Given the description of an element on the screen output the (x, y) to click on. 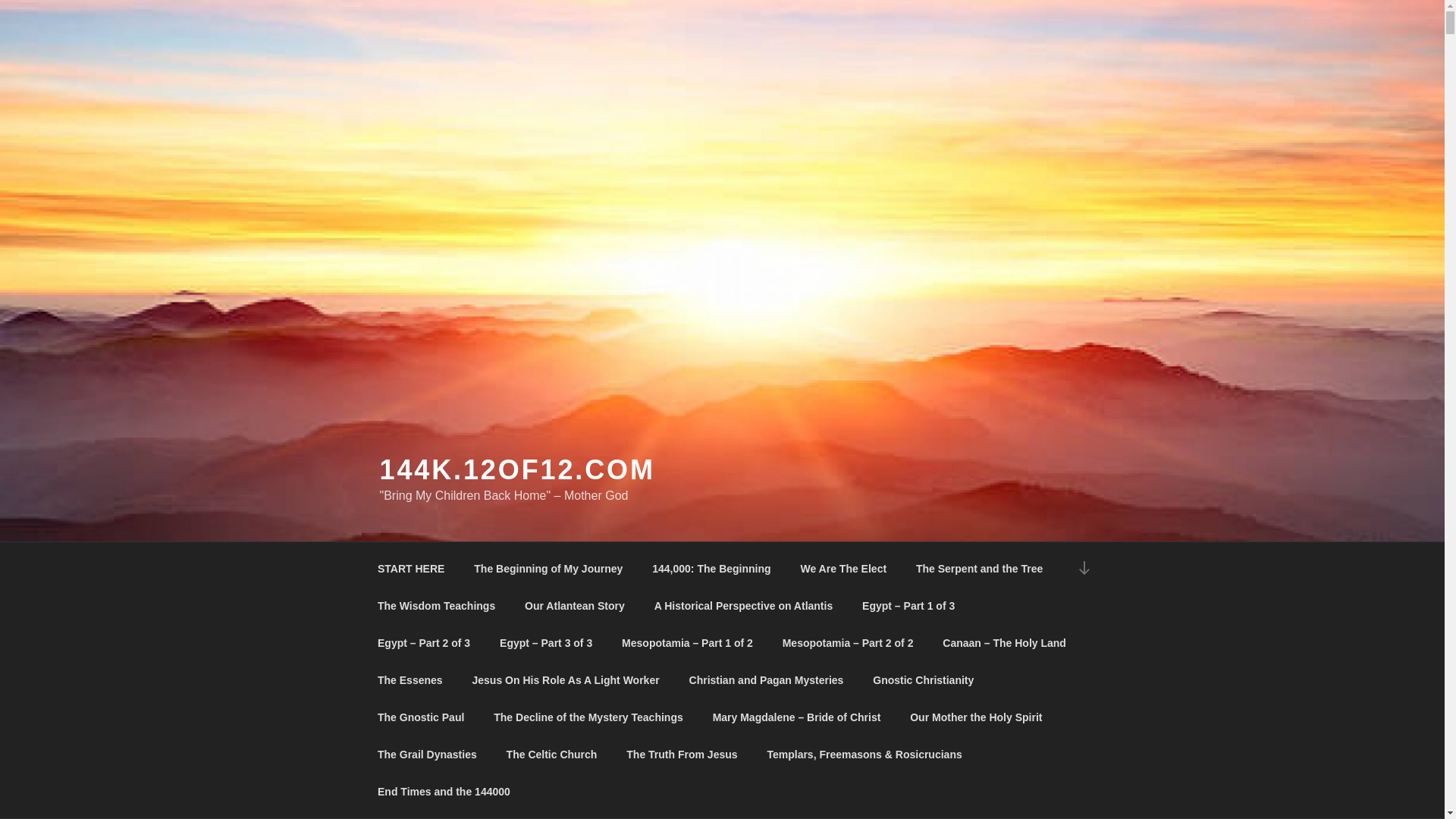
The Essenes Element type: text (409, 679)
The Grail Dynasties Element type: text (426, 753)
The Beginning of My Journey Element type: text (548, 568)
Christian and Pagan Mysteries Element type: text (765, 679)
End Times and the 144000 Element type: text (443, 791)
144K.12OF12.COM Element type: text (516, 469)
A Historical Perspective on Atlantis Element type: text (742, 605)
Jesus On His Role As A Light Worker Element type: text (565, 679)
Templars, Freemasons & Rosicrucians Element type: text (864, 753)
Our Atlantean Story Element type: text (574, 605)
The Celtic Church Element type: text (551, 753)
144,000: The Beginning Element type: text (711, 568)
The Truth From Jesus Element type: text (681, 753)
The Wisdom Teachings Element type: text (436, 605)
START HERE Element type: text (410, 568)
Gnostic Christianity Element type: text (923, 679)
The Serpent and the Tree Element type: text (978, 568)
The Gnostic Paul Element type: text (420, 717)
Our Mother the Holy Spirit Element type: text (976, 717)
The Decline of the Mystery Teachings Element type: text (588, 717)
We Are The Elect Element type: text (843, 568)
Scroll down to content Element type: text (1083, 567)
